Given the description of an element on the screen output the (x, y) to click on. 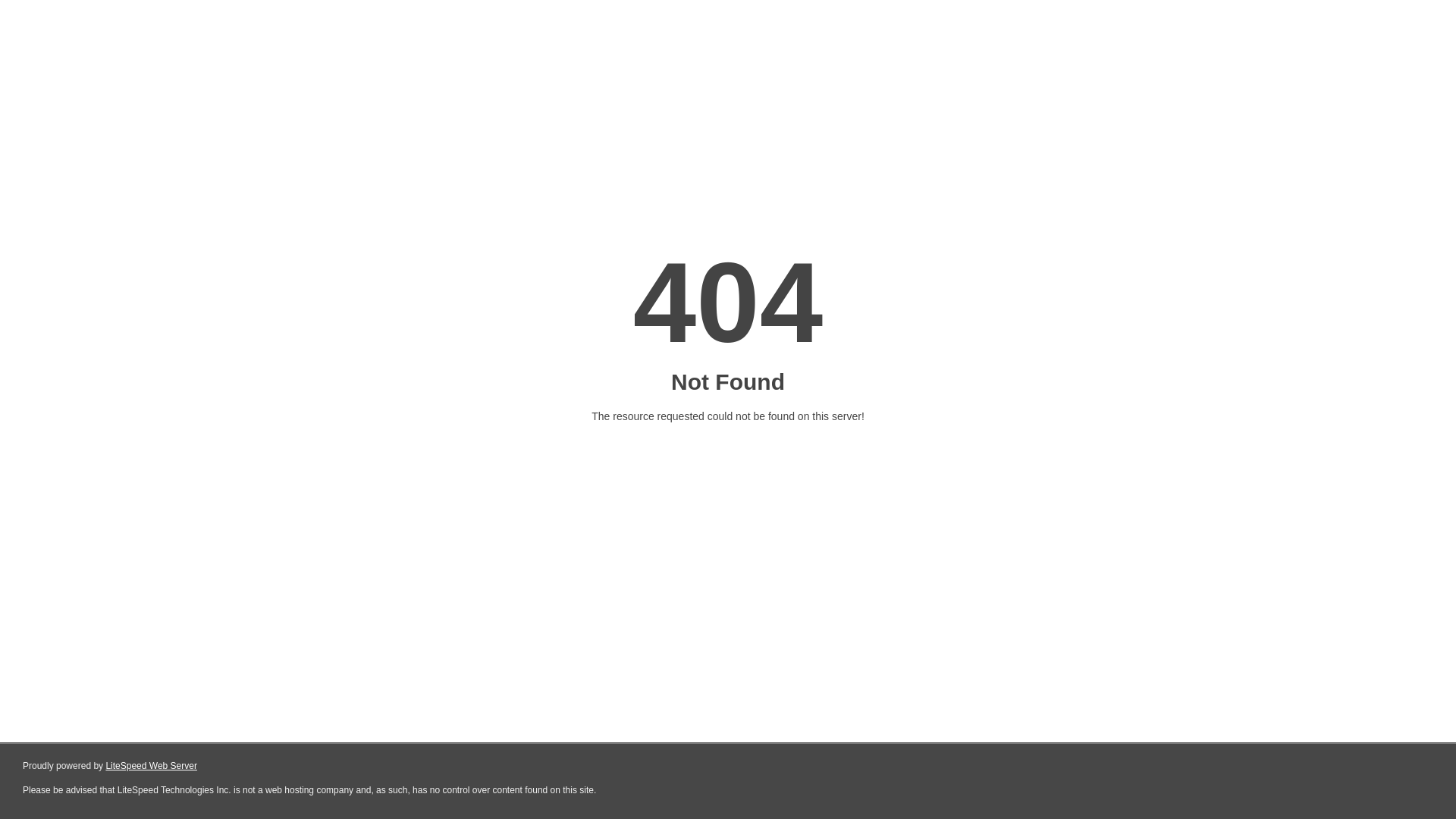
LiteSpeed Web Server Element type: text (151, 765)
